Given the description of an element on the screen output the (x, y) to click on. 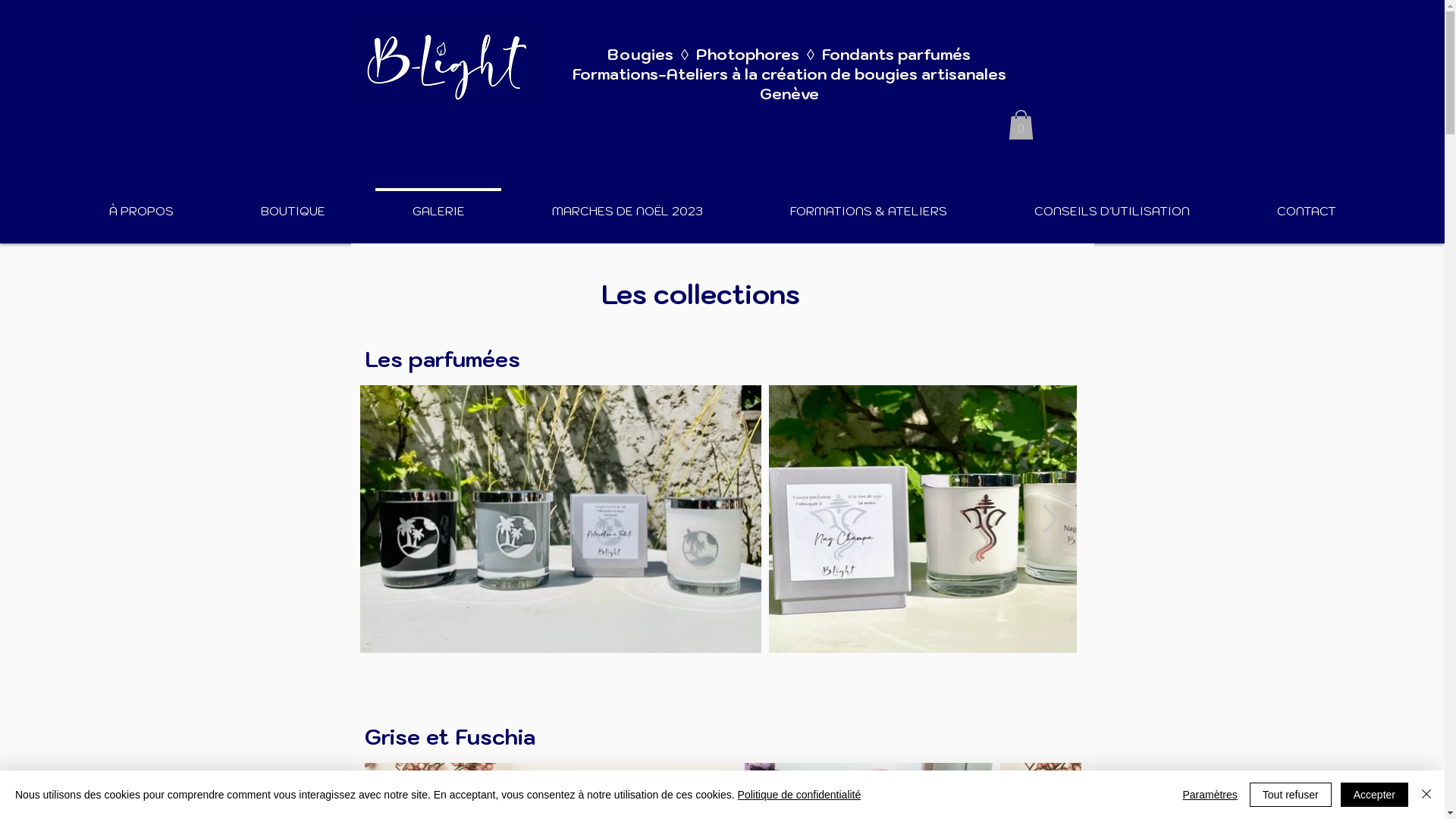
FORMATIONS & ATELIERS Element type: text (868, 203)
Tout refuser Element type: text (1290, 794)
CONTACT Element type: text (1306, 203)
0 Element type: text (1020, 124)
GALERIE Element type: text (438, 203)
CONSEILS D'UTILISATION Element type: text (1111, 203)
Accepter Element type: text (1374, 794)
BOUTIQUE Element type: text (292, 203)
